Given the description of an element on the screen output the (x, y) to click on. 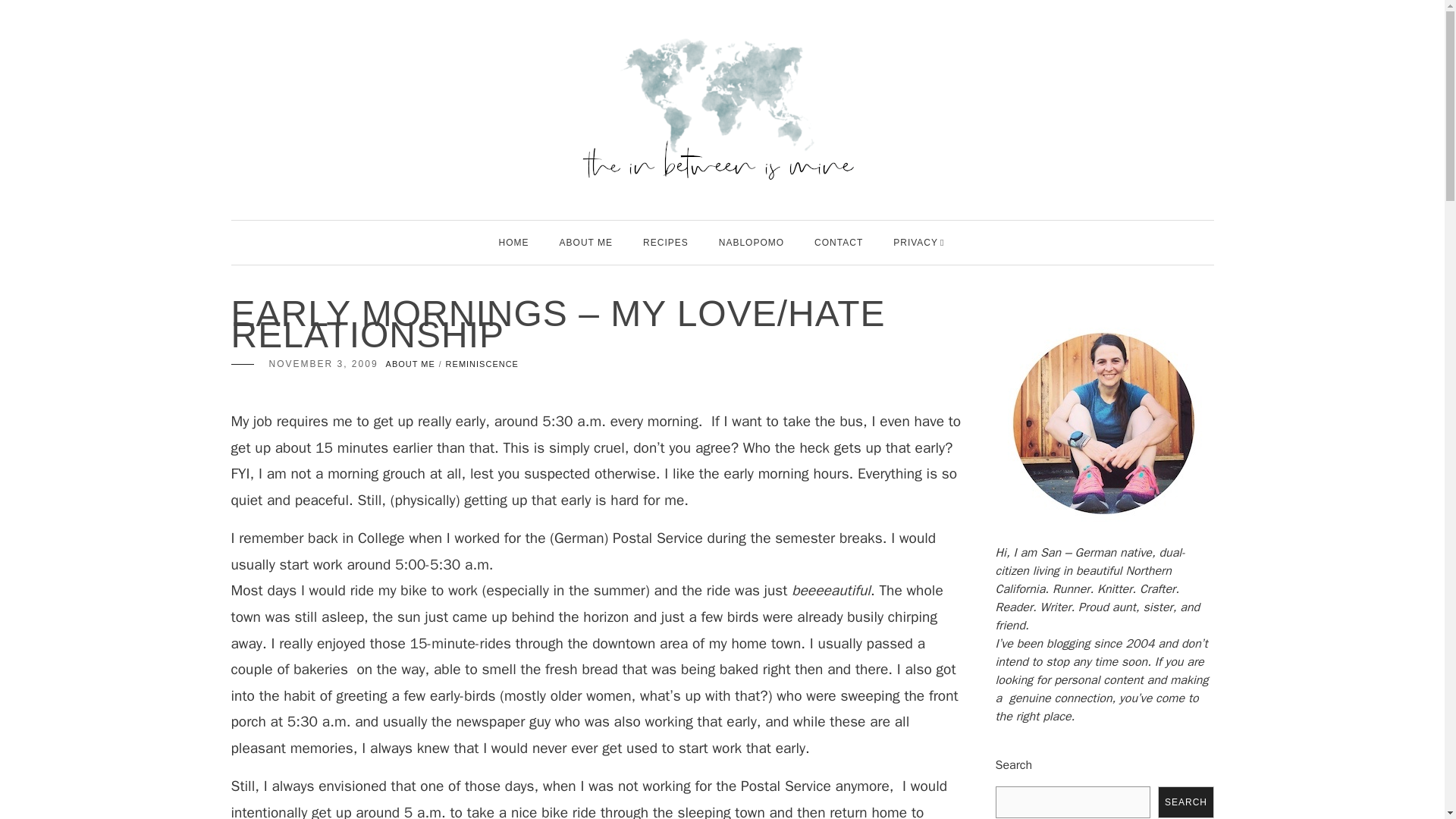
CONTACT (838, 242)
RECIPES (665, 242)
ABOUT ME (585, 242)
REMINISCENCE (481, 363)
ABOUT ME (410, 363)
PRIVACY (915, 242)
NABLOPOMO (751, 242)
